Given the description of an element on the screen output the (x, y) to click on. 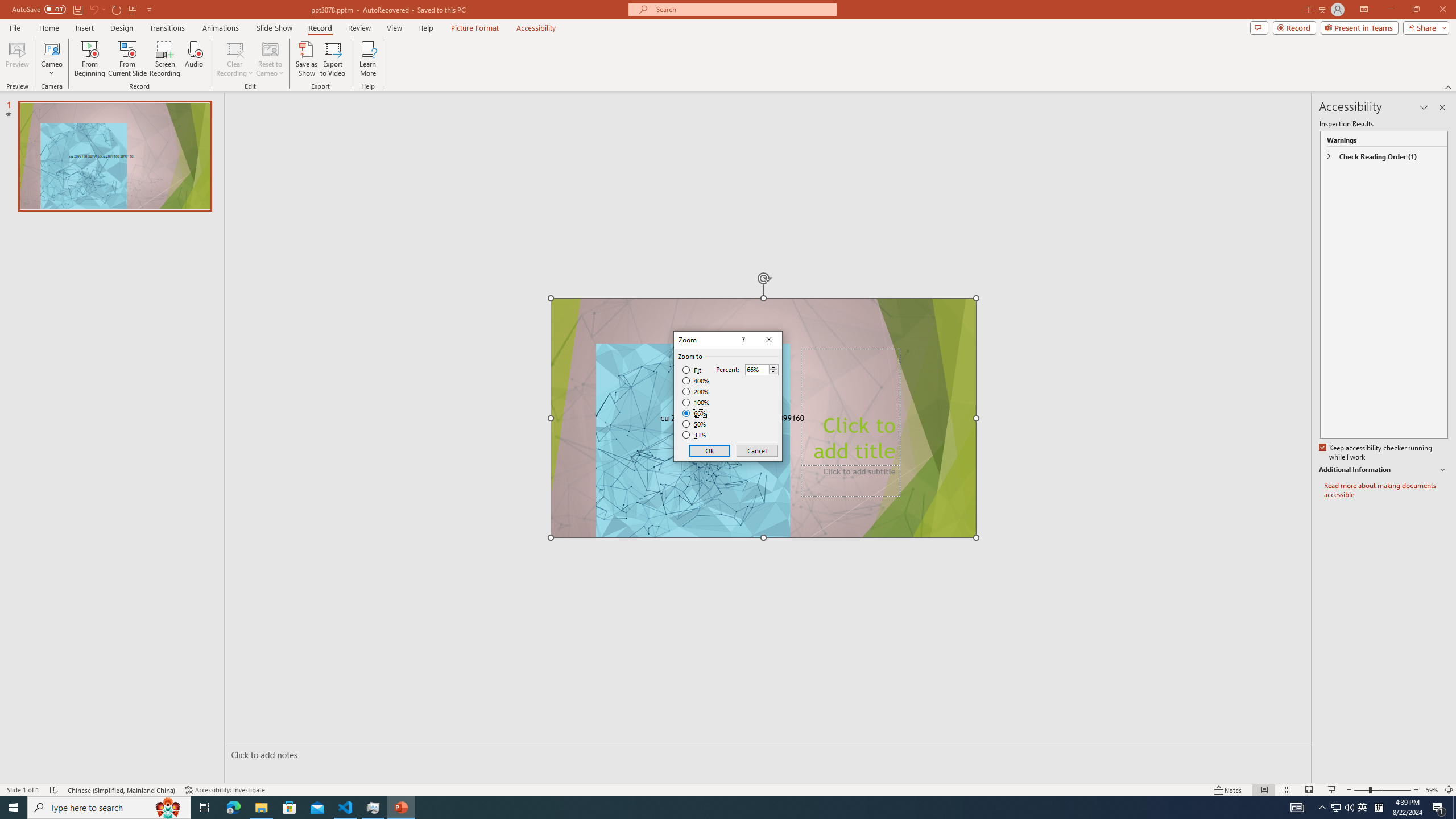
Start (13, 807)
OK (709, 450)
Visual Studio Code - 1 running window (345, 807)
Search highlights icon opens search home window (167, 807)
Percent (761, 369)
Preview (17, 58)
Clear Recording (234, 58)
